Given the description of an element on the screen output the (x, y) to click on. 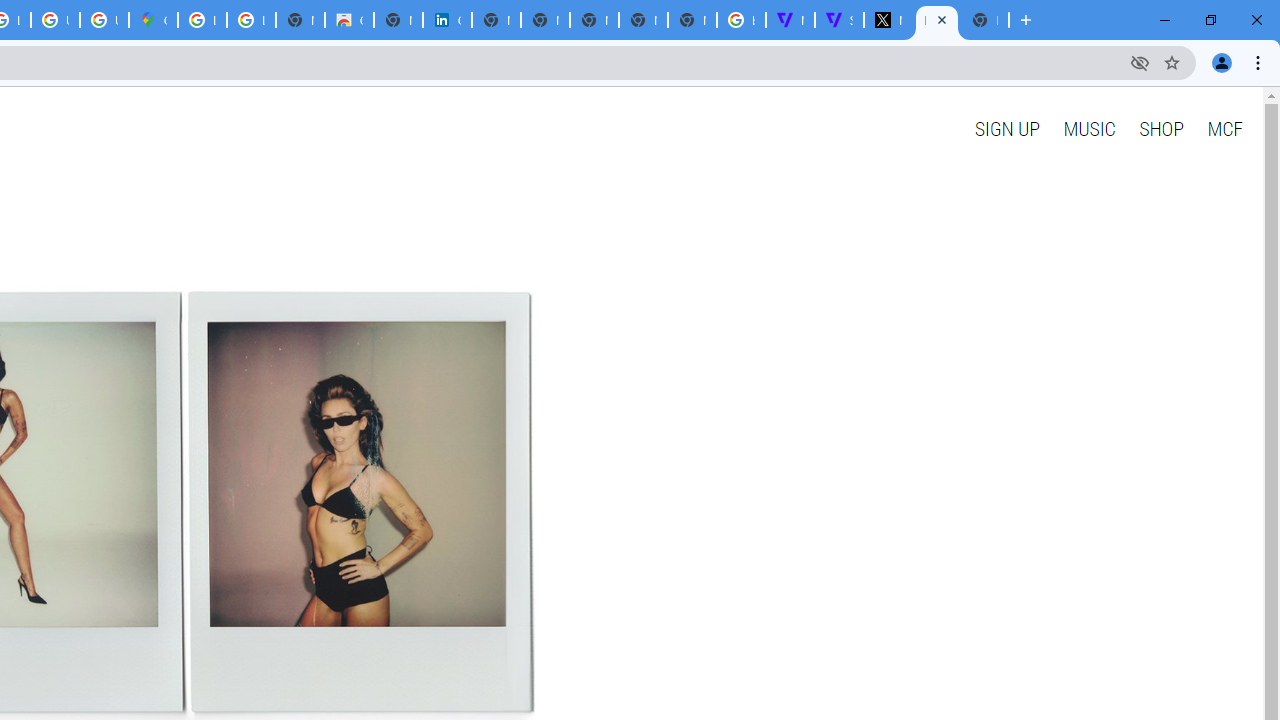
New Tab (984, 20)
Miley Cyrus (@MileyCyrus) / X (888, 20)
New Tab (692, 20)
SHOP (1161, 128)
Chrome Web Store (349, 20)
MILEY CYRUS. (936, 20)
MUSIC (1089, 128)
